Given the description of an element on the screen output the (x, y) to click on. 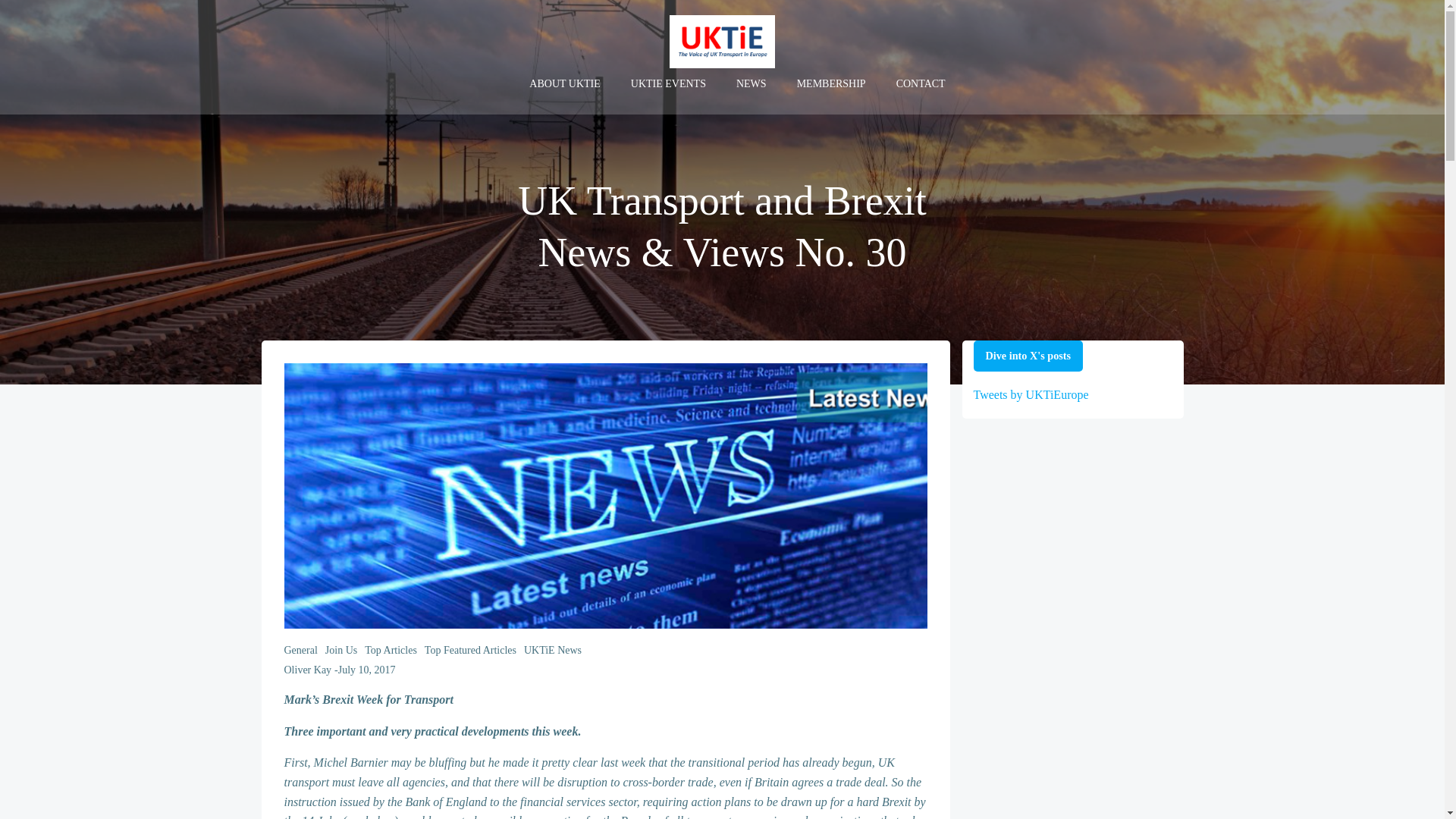
ABOUT UKTIE (564, 83)
Oliver Kay (307, 669)
Dive into X's posts (1028, 355)
Top Featured Articles (470, 650)
NEWS (751, 83)
UKTIE EVENTS (668, 83)
UKTiE News (552, 650)
CONTACT (920, 83)
MEMBERSHIP (831, 83)
General (300, 650)
July 10, 2017 (366, 669)
Top Articles (390, 650)
Join Us (340, 650)
